Given the description of an element on the screen output the (x, y) to click on. 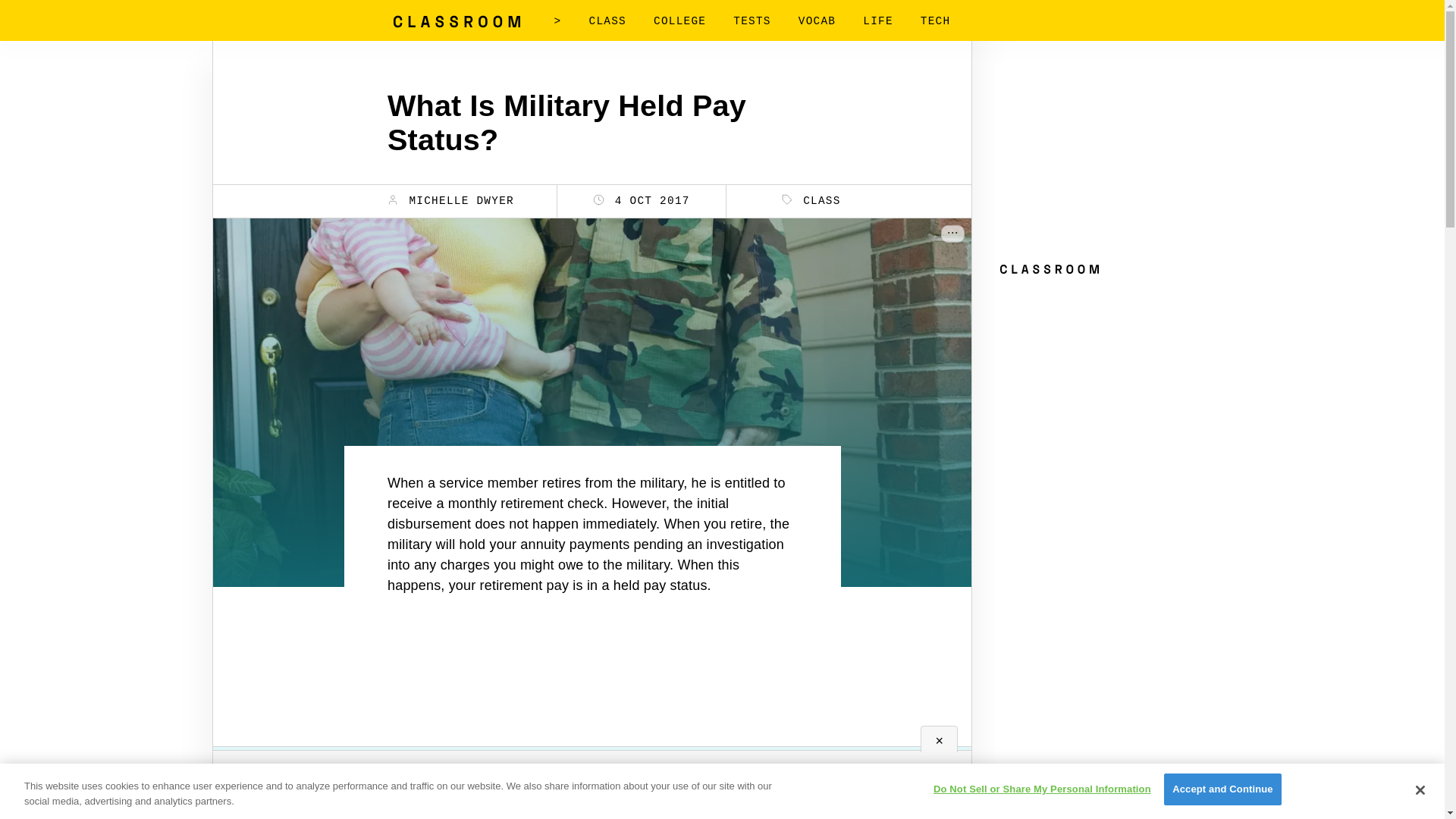
VOCAB (816, 21)
3rd party ad content (1108, 376)
TECH (935, 21)
CLASS (607, 21)
COLLEGE (679, 21)
TESTS (751, 21)
CLASS (811, 200)
LIFE (878, 21)
3rd party ad content (591, 684)
3rd party ad content (1108, 158)
